Given the description of an element on the screen output the (x, y) to click on. 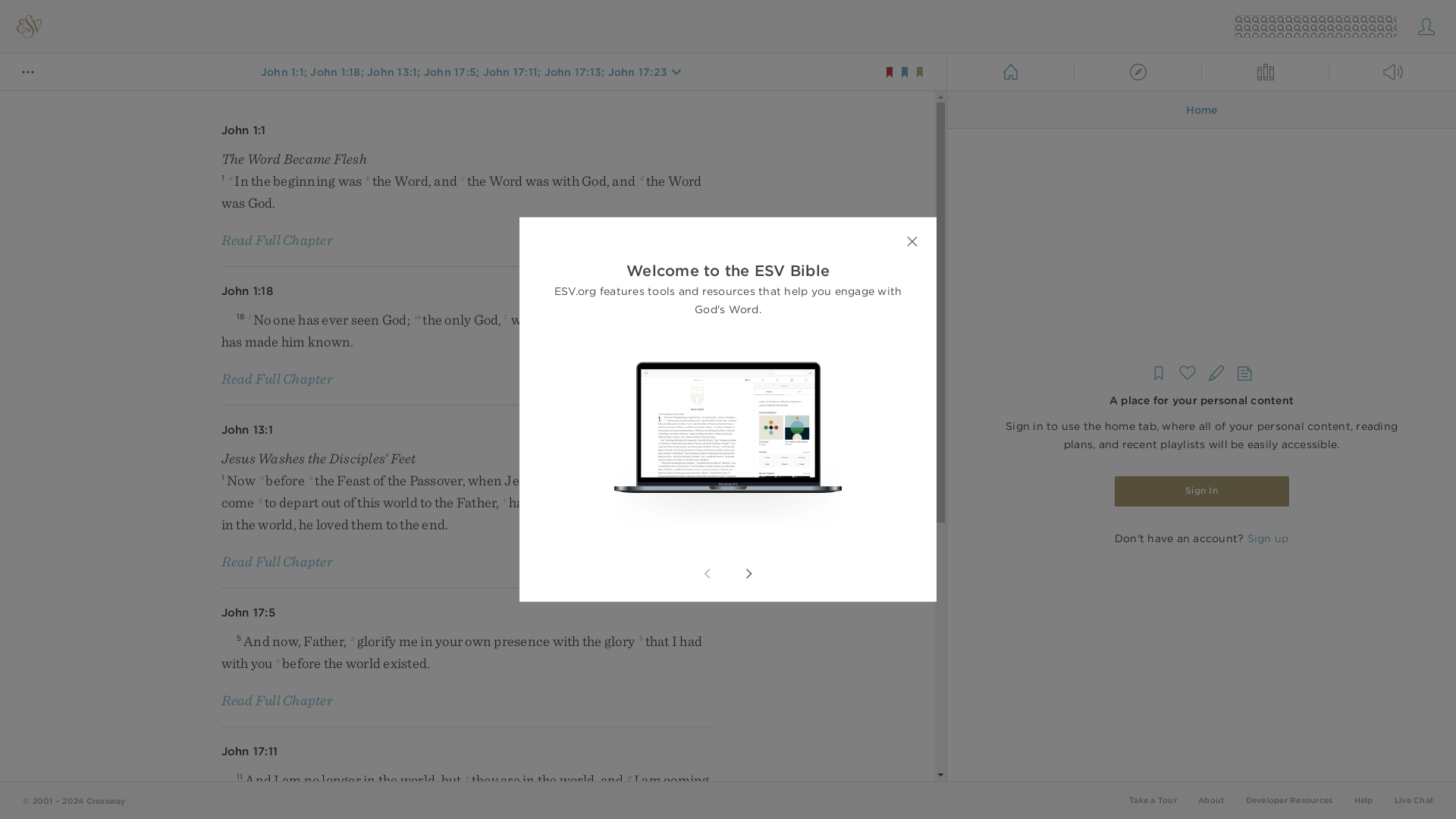
Read Full Chapter (277, 239)
Read Full Chapter (277, 699)
Read Full Chapter (277, 378)
Read Full Chapter (277, 560)
